Given the description of an element on the screen output the (x, y) to click on. 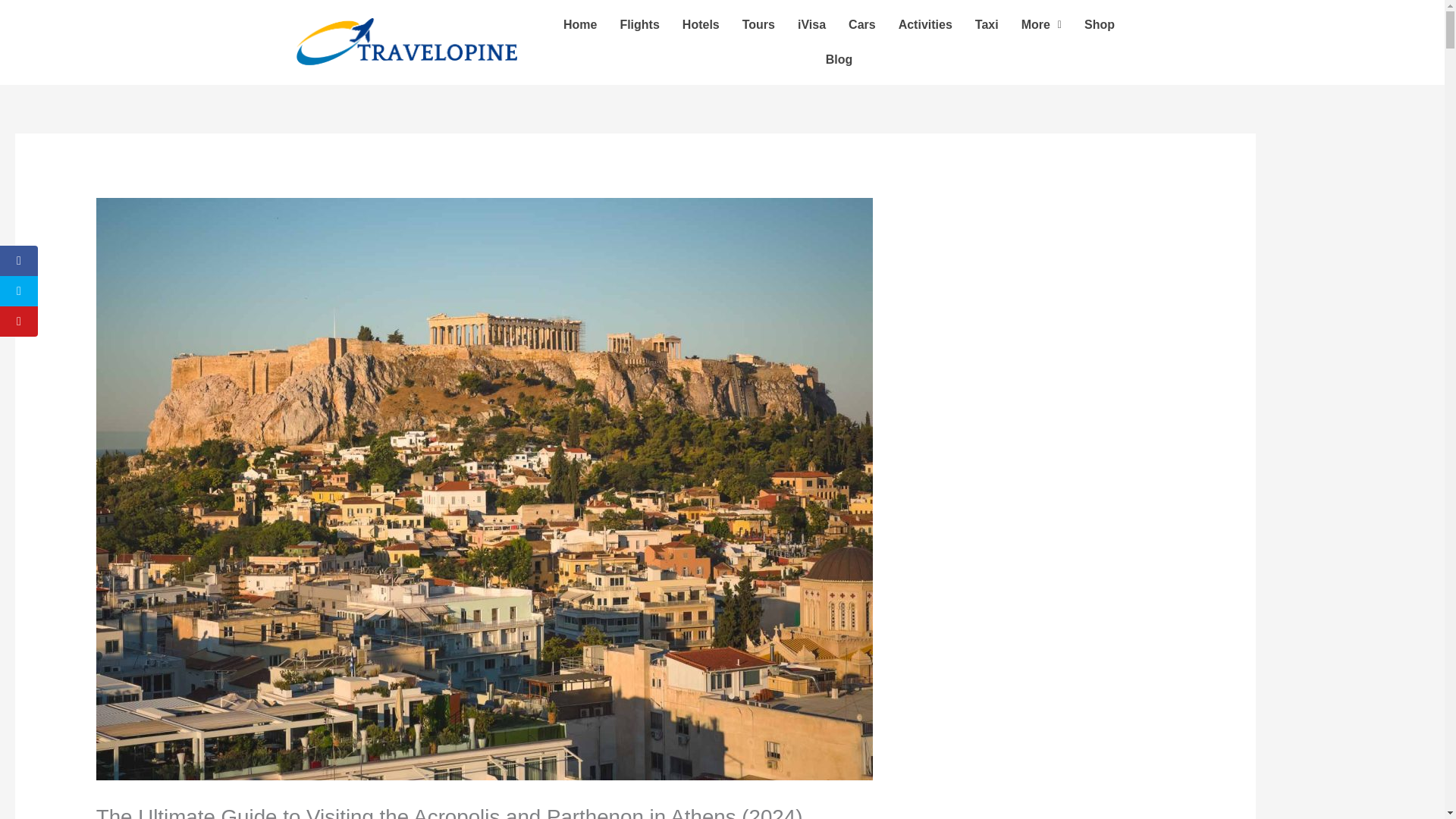
Hotels (700, 24)
iVisa (811, 24)
Cars (861, 24)
Home (579, 24)
Flights (638, 24)
Blog (838, 59)
More (1041, 24)
Taxi (986, 24)
Activities (924, 24)
Tours (758, 24)
Shop (1099, 24)
